Given the description of an element on the screen output the (x, y) to click on. 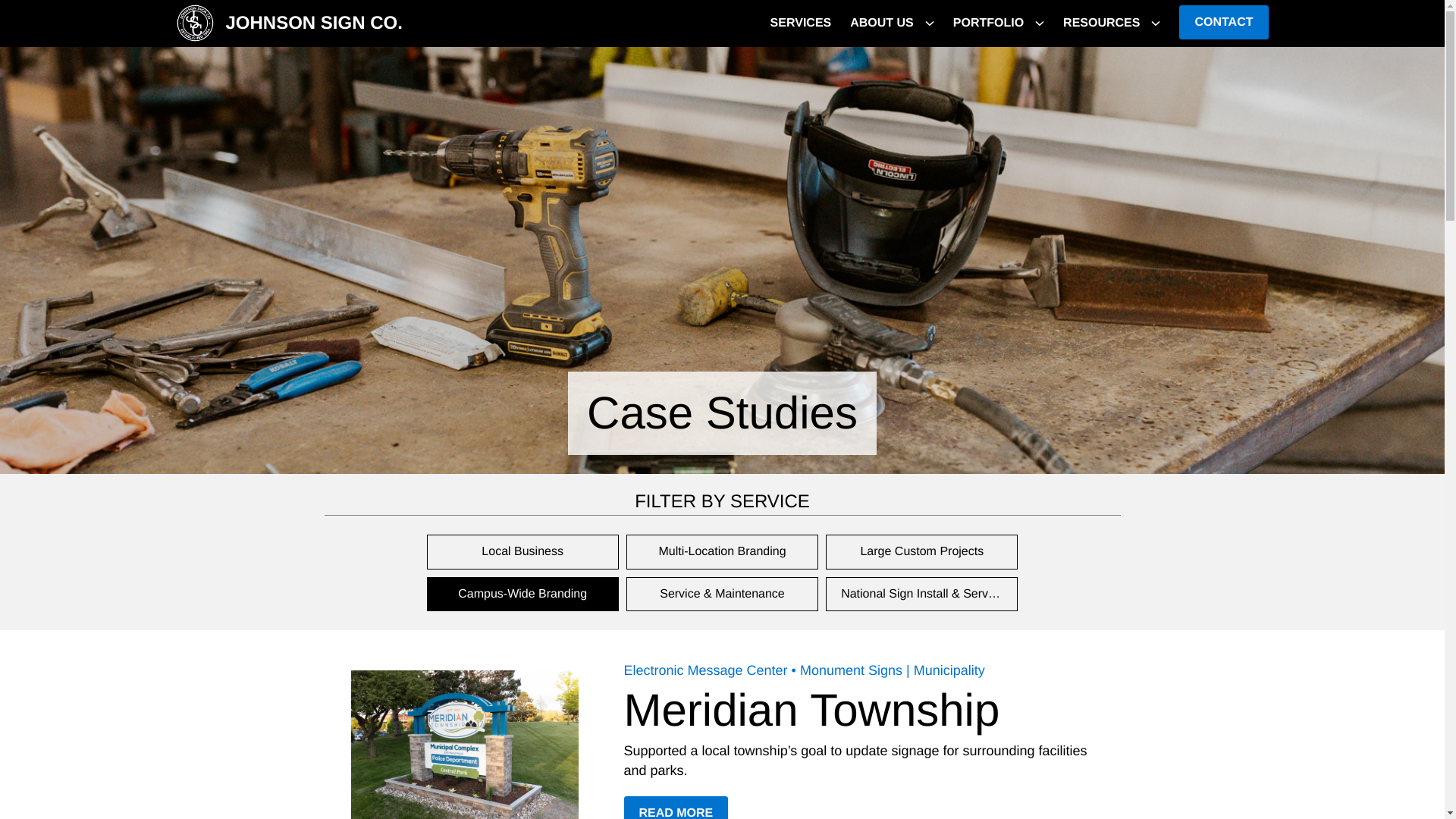
CONTACT (1223, 22)
Local Business (521, 551)
PORTFOLIO (288, 23)
Skip to content (988, 23)
ABOUT US (800, 23)
Large Custom Projects (882, 23)
Campus-Wide Branding (921, 551)
READ MORE (521, 594)
